Given the description of an element on the screen output the (x, y) to click on. 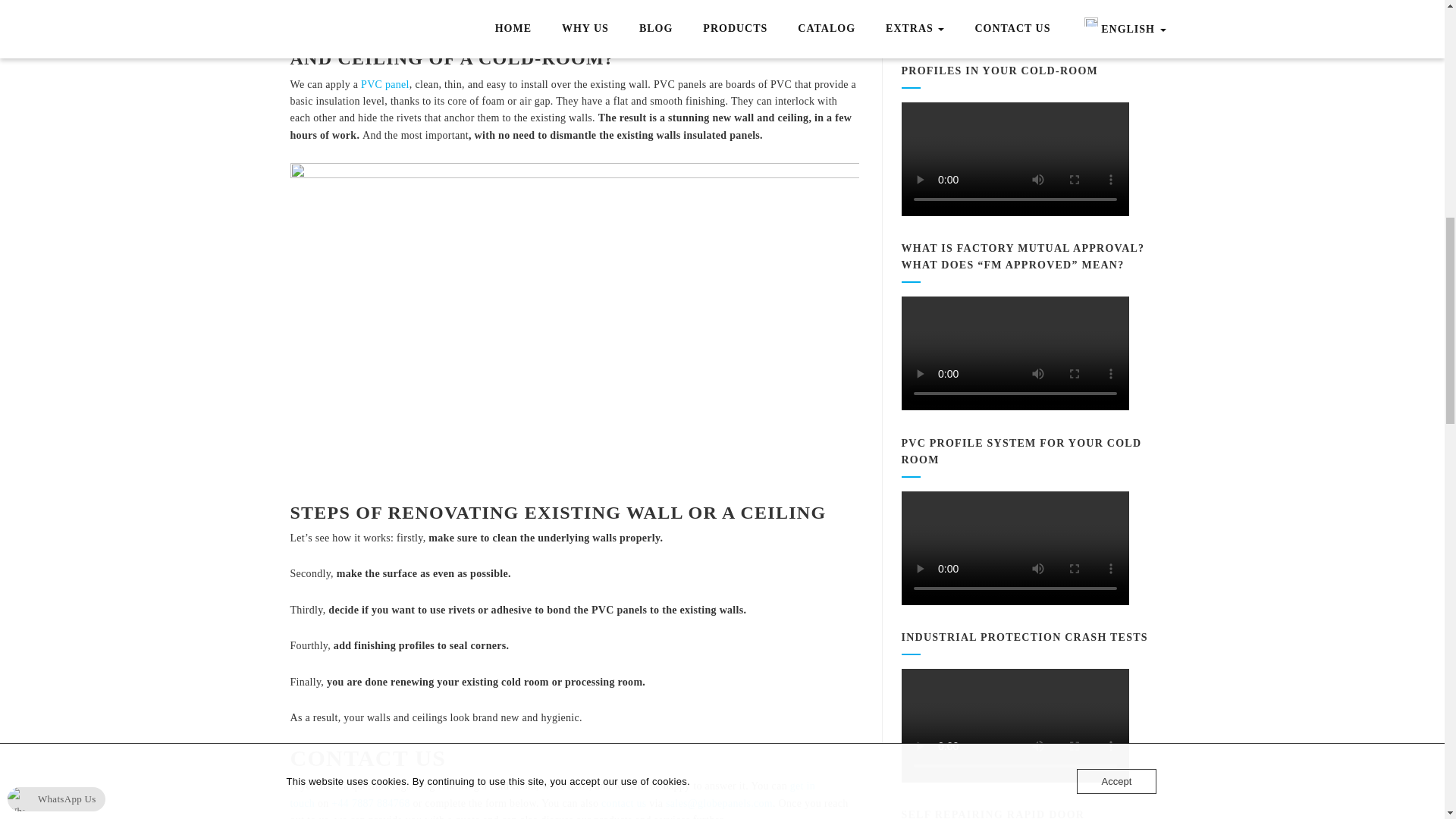
PVC panel (385, 84)
get in touch  (552, 794)
contact us (623, 803)
